Given the description of an element on the screen output the (x, y) to click on. 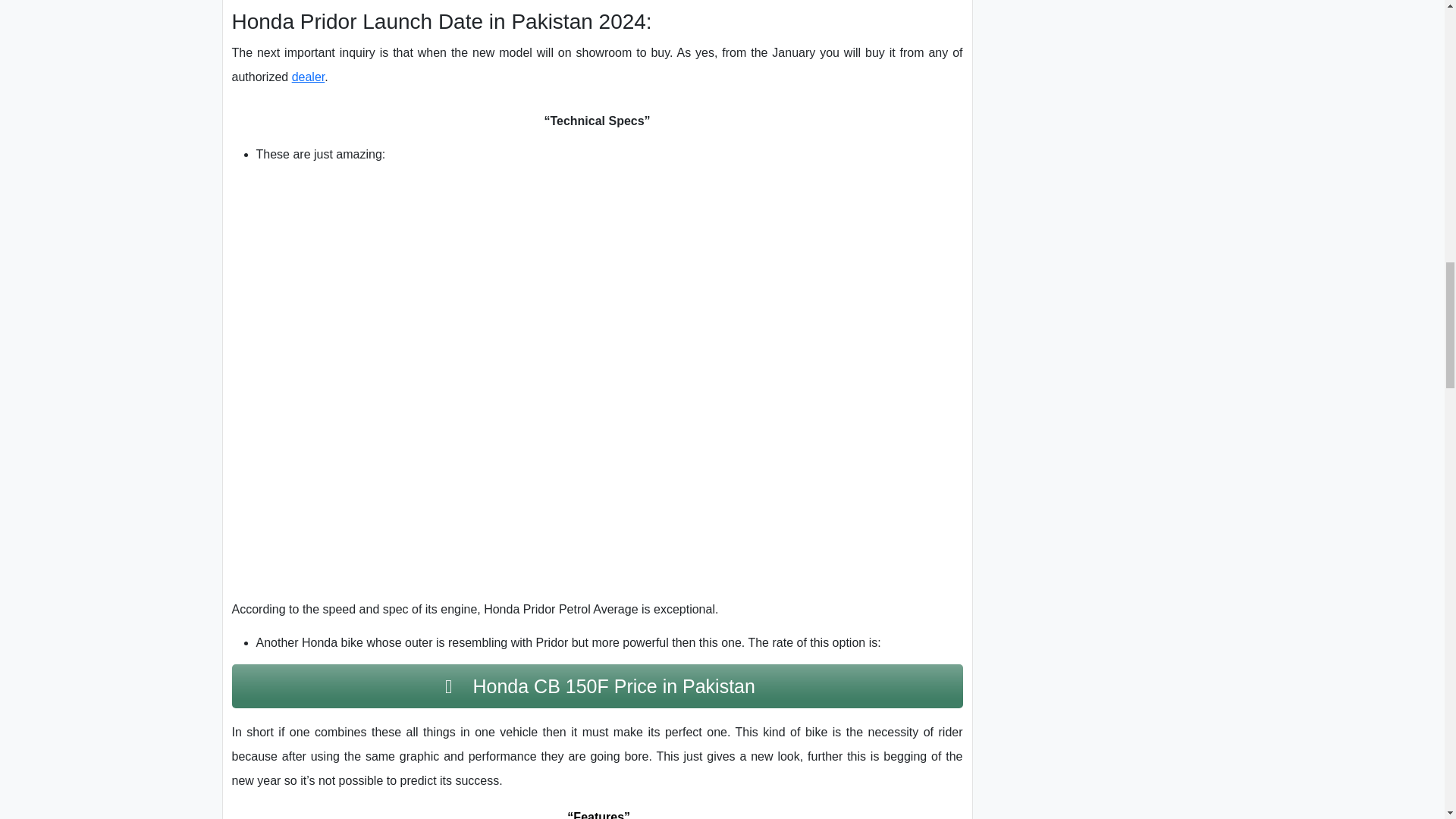
Honda CB 150F Price in Pakistan (596, 686)
dealer (308, 76)
